Given the description of an element on the screen output the (x, y) to click on. 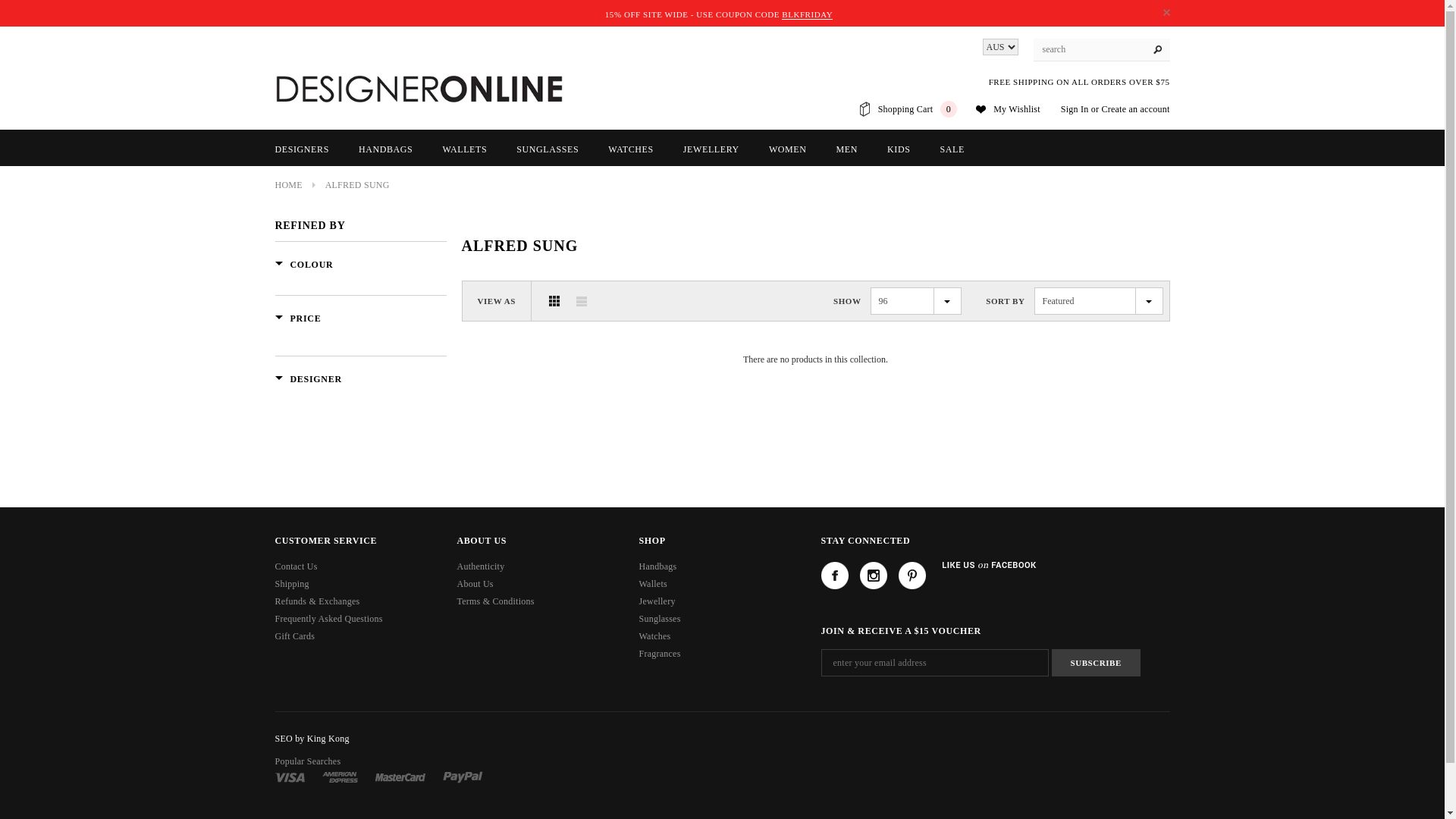
Paypal Element type: hover (462, 776)
Search Element type: text (1157, 49)
Watches Element type: text (654, 635)
Designer Online on Facebook Element type: hover (833, 575)
Create an account Element type: text (1135, 108)
Mastercard Element type: hover (400, 776)
Designer Online on Pinterest Element type: hover (911, 575)
Wallets Element type: text (652, 583)
MEN Element type: text (846, 148)
Designer Online on Instagram Element type: hover (873, 575)
Popular Searches Element type: text (307, 761)
WOMEN Element type: text (787, 148)
JEWELLERY Element type: text (711, 148)
CLOSE Element type: text (1166, 12)
BLKFRIDAY Element type: text (806, 14)
LIST Element type: text (581, 300)
Fragrances Element type: text (659, 653)
Shipping Element type: text (291, 583)
Authenticity Element type: text (480, 566)
Subscribe Element type: text (1095, 662)
About Us Element type: text (474, 583)
GRID Element type: text (554, 300)
HOME Element type: text (287, 184)
My Wishlist Element type: text (1016, 108)
WATCHES Element type: text (630, 148)
Sign In Element type: text (1074, 108)
DESIGNERS Element type: text (301, 148)
Refunds & Exchanges Element type: text (316, 601)
Contact Us Element type: text (295, 566)
Gift Cards Element type: text (294, 635)
Shopping Cart 0 Element type: text (917, 108)
Frequently Asked Questions Element type: text (328, 618)
Visa Element type: hover (289, 776)
SUNGLASSES Element type: text (547, 148)
Featured Element type: text (1098, 300)
WALLETS Element type: text (464, 148)
American express Element type: hover (339, 776)
Terms & Conditions Element type: text (494, 601)
Handbags Element type: text (657, 566)
KIDS Element type: text (898, 148)
SALE Element type: text (951, 148)
HANDBAGS Element type: text (385, 148)
Jewellery Element type: text (656, 601)
96 Element type: text (915, 300)
Sunglasses Element type: text (659, 618)
